Given the description of an element on the screen output the (x, y) to click on. 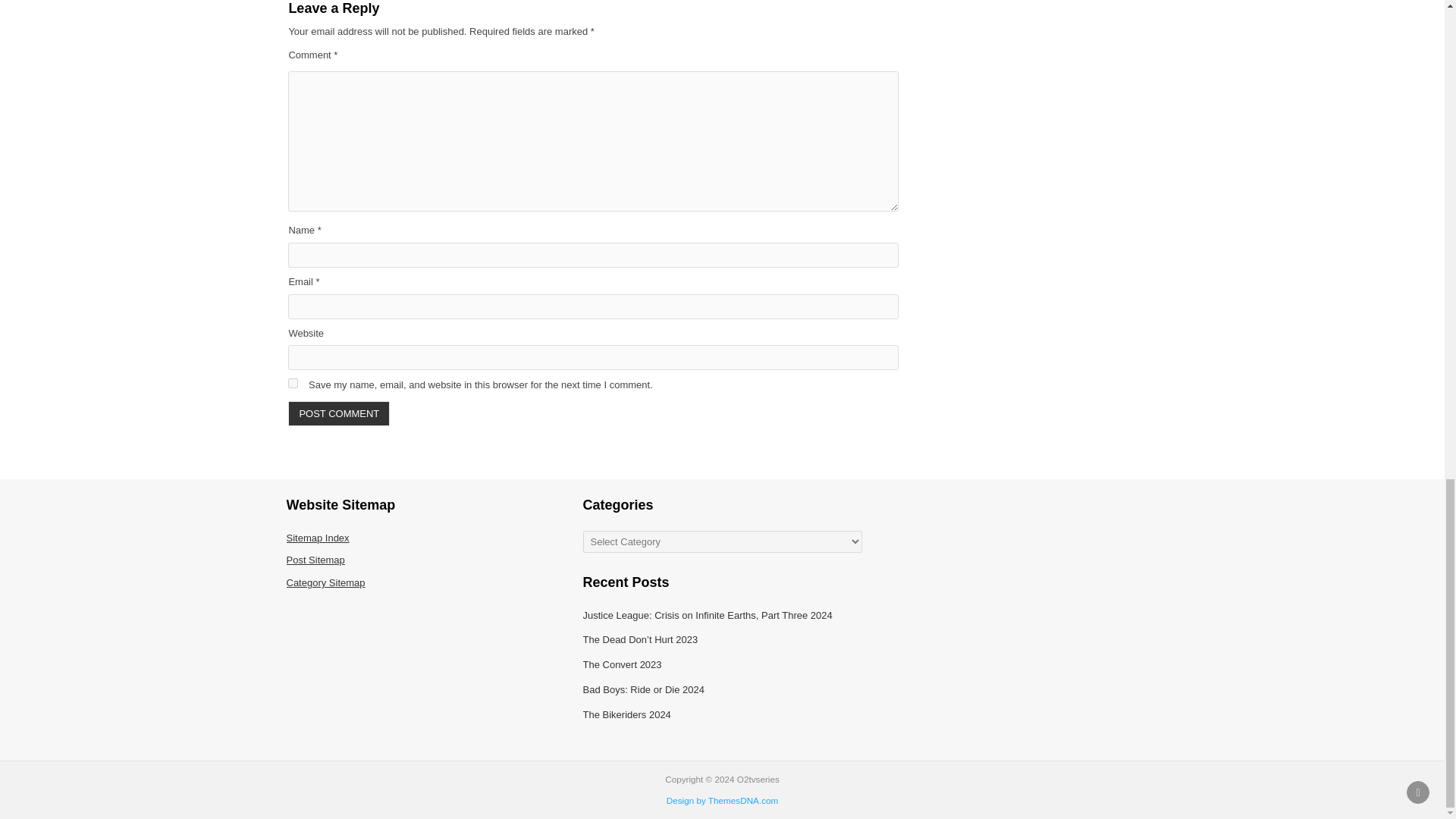
Post Comment (339, 413)
yes (293, 383)
